Given the description of an element on the screen output the (x, y) to click on. 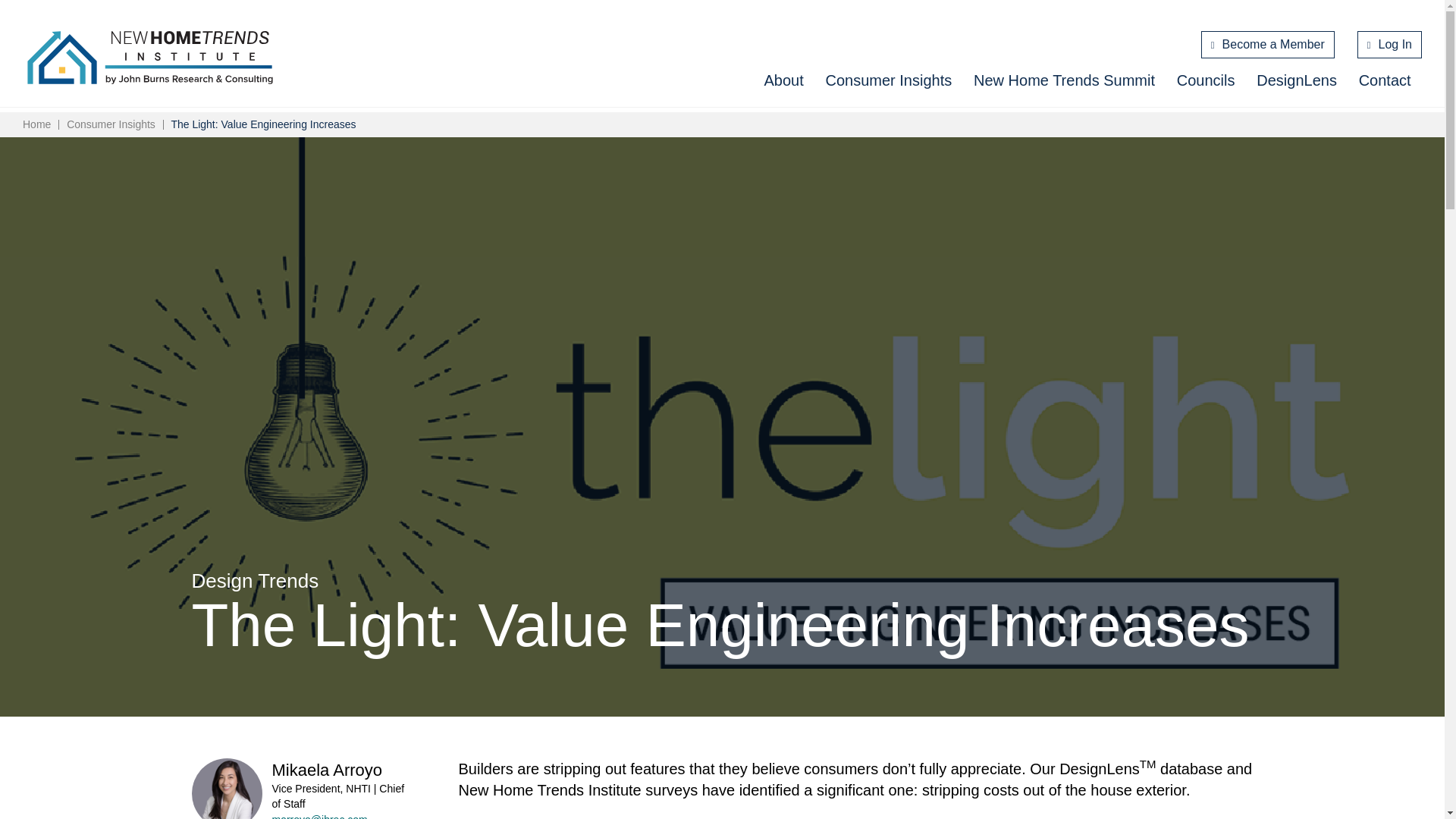
Become a Member (1268, 44)
Councils (1205, 80)
DesignLens (1296, 80)
Home (36, 123)
About (782, 80)
Home (150, 57)
Consumer Insights (888, 80)
Log In (1389, 44)
Contact (1384, 80)
New Home Trends Summit (1064, 80)
Consumer Insights (110, 123)
